Given the description of an element on the screen output the (x, y) to click on. 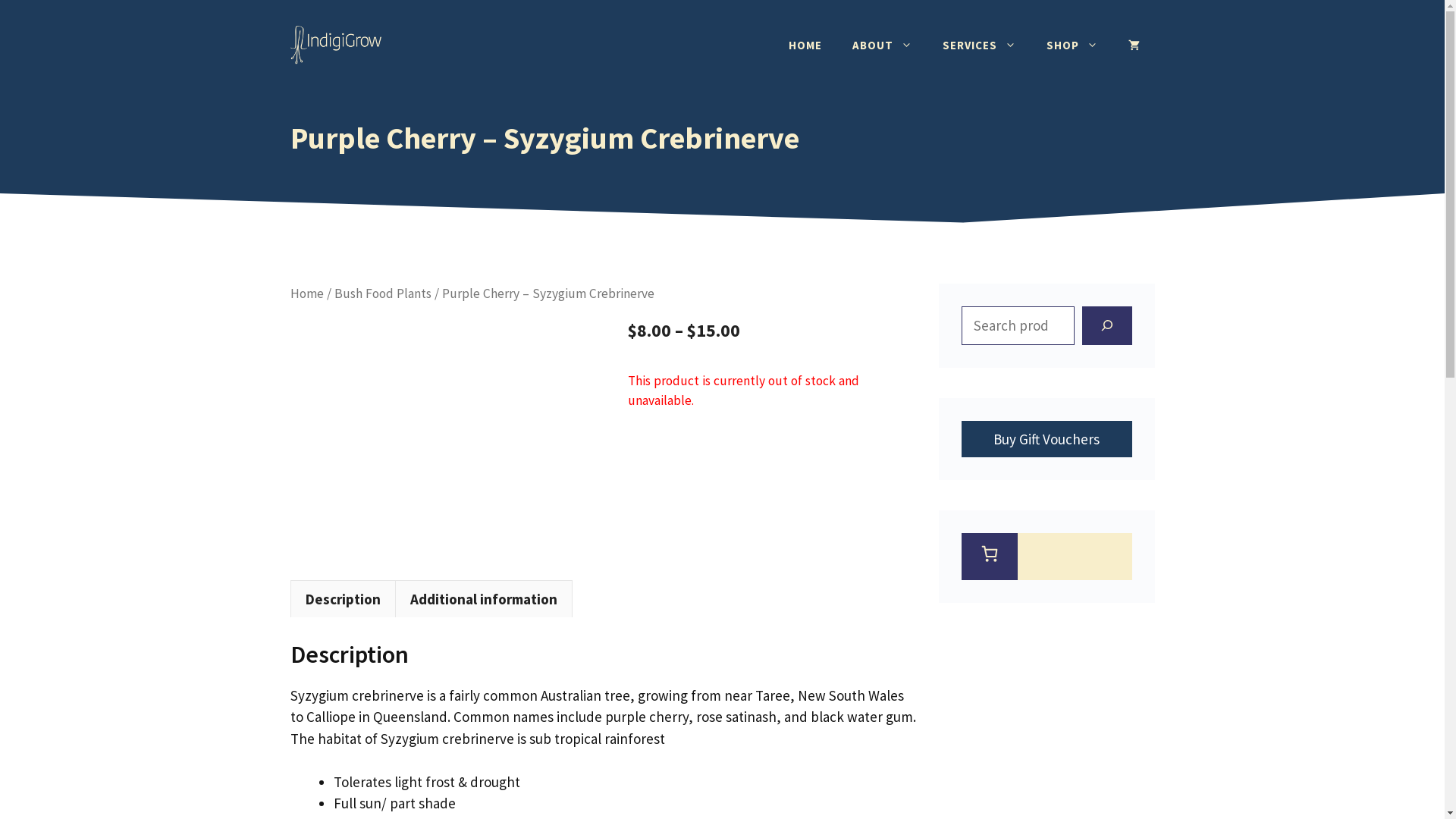
Description Element type: text (341, 598)
HOME Element type: text (805, 45)
Bush Food Plants Element type: text (381, 293)
Additional information Element type: text (482, 598)
SERVICES Element type: text (978, 45)
View your shopping cart Element type: hover (1133, 45)
Buy Gift Vouchers Element type: text (1046, 438)
SHOP Element type: text (1072, 45)
ABOUT Element type: text (882, 45)
Home Element type: text (306, 293)
